Given the description of an element on the screen output the (x, y) to click on. 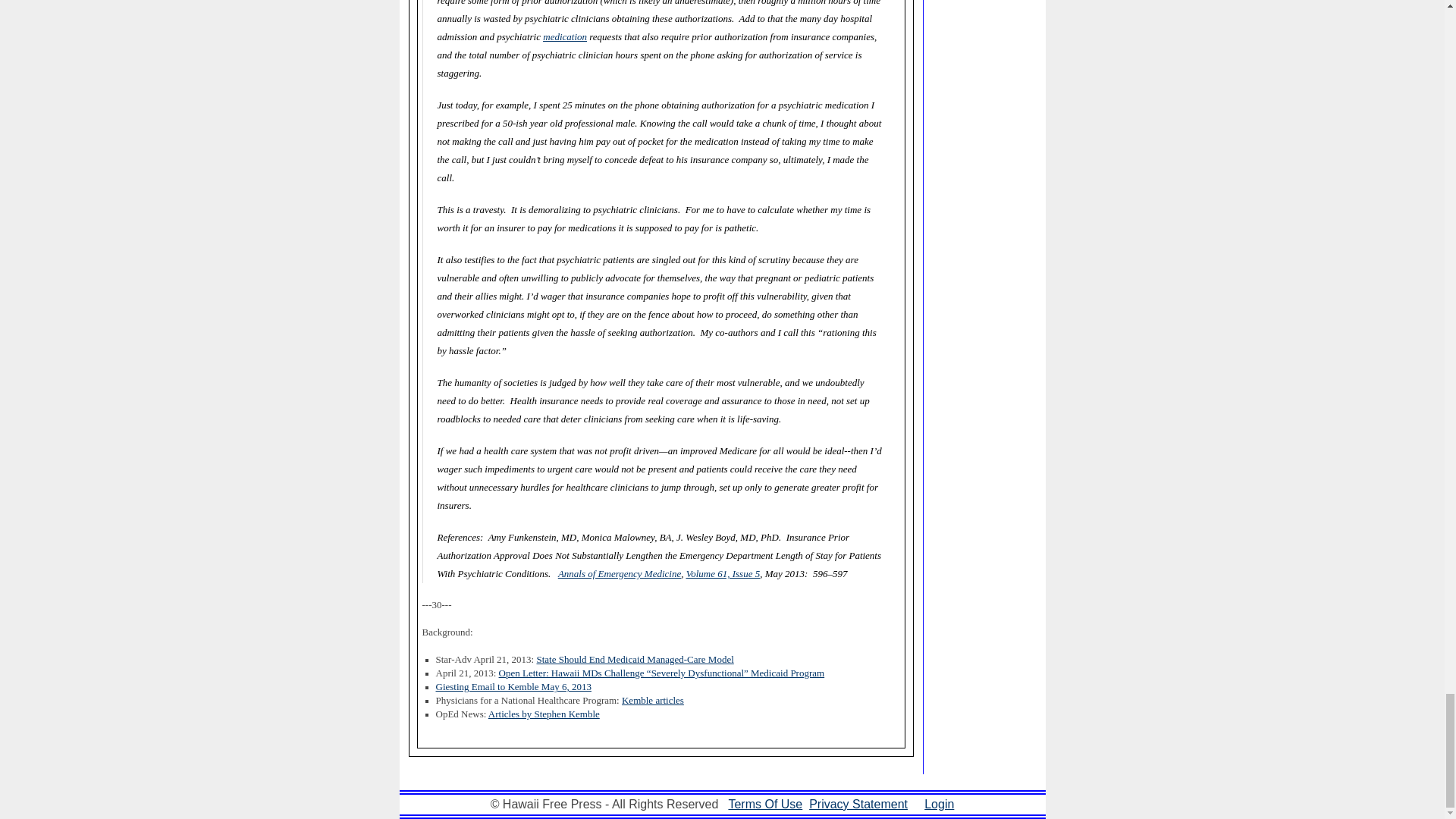
State Should End Medicaid Managed-Care Model (634, 659)
Giesting Email to Kemble May 6, 2013 (513, 686)
Annals of Emergency Medicine (619, 572)
Articles by Stephen Kemble (543, 714)
Login (938, 803)
Kemble articles (652, 700)
medication (564, 35)
Volume 61, Issue 5 (722, 572)
